Given the description of an element on the screen output the (x, y) to click on. 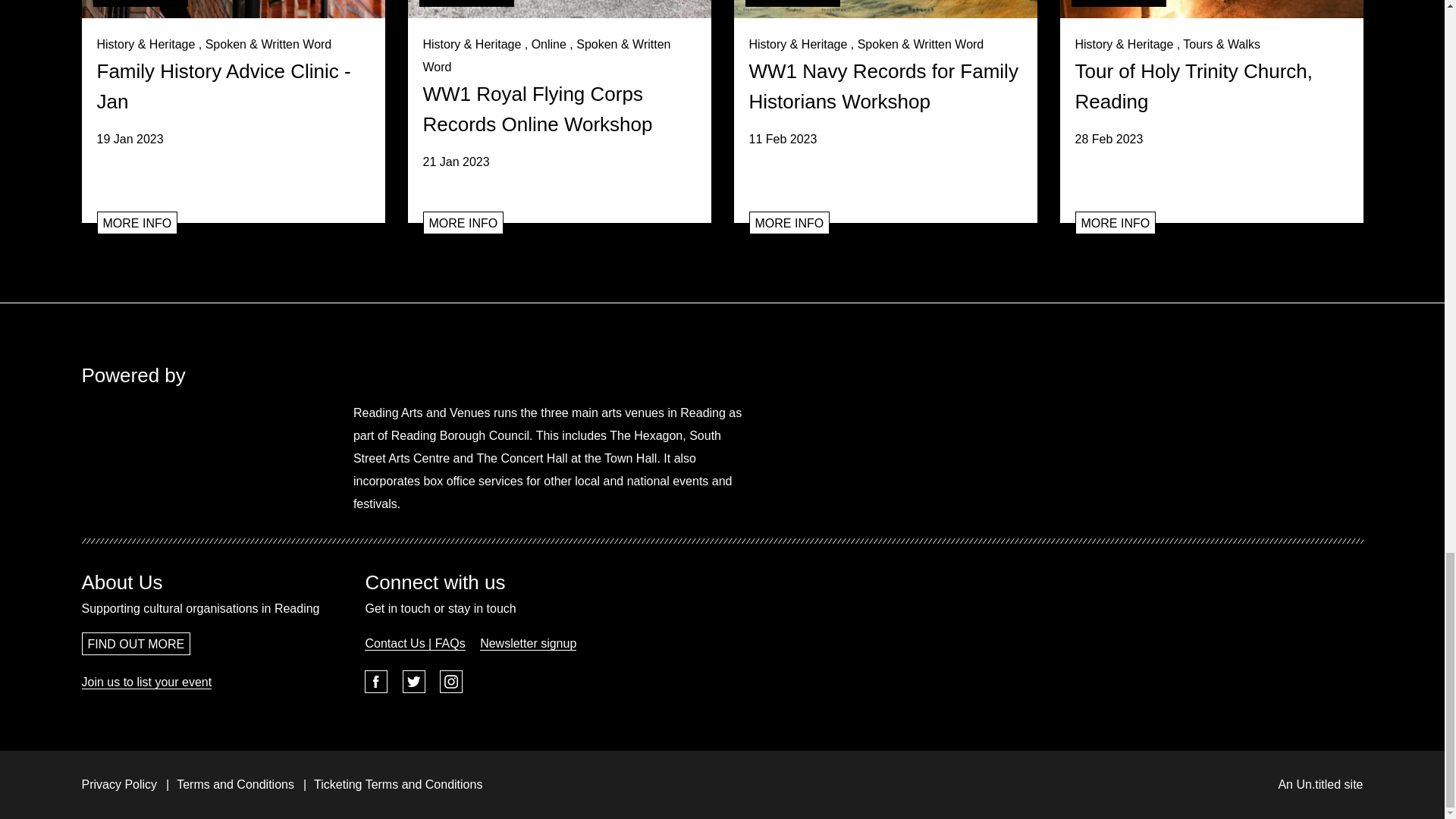
Open WW1 Navy Records for Family Historians  Workshop (789, 222)
Find out more about South Street (1121, 458)
MORE INFO (1115, 222)
Open WW1 Navy Records for Family Historians  Workshop (884, 92)
MORE INFO (137, 222)
Open Tour of Holy Trinity Church, Reading (1210, 9)
Open Family History Advice Clinic - Jan (233, 92)
MORE INFO (789, 222)
MORE INFO (463, 222)
Find out more about Reading Arts and Venues (156, 458)
